Given the description of an element on the screen output the (x, y) to click on. 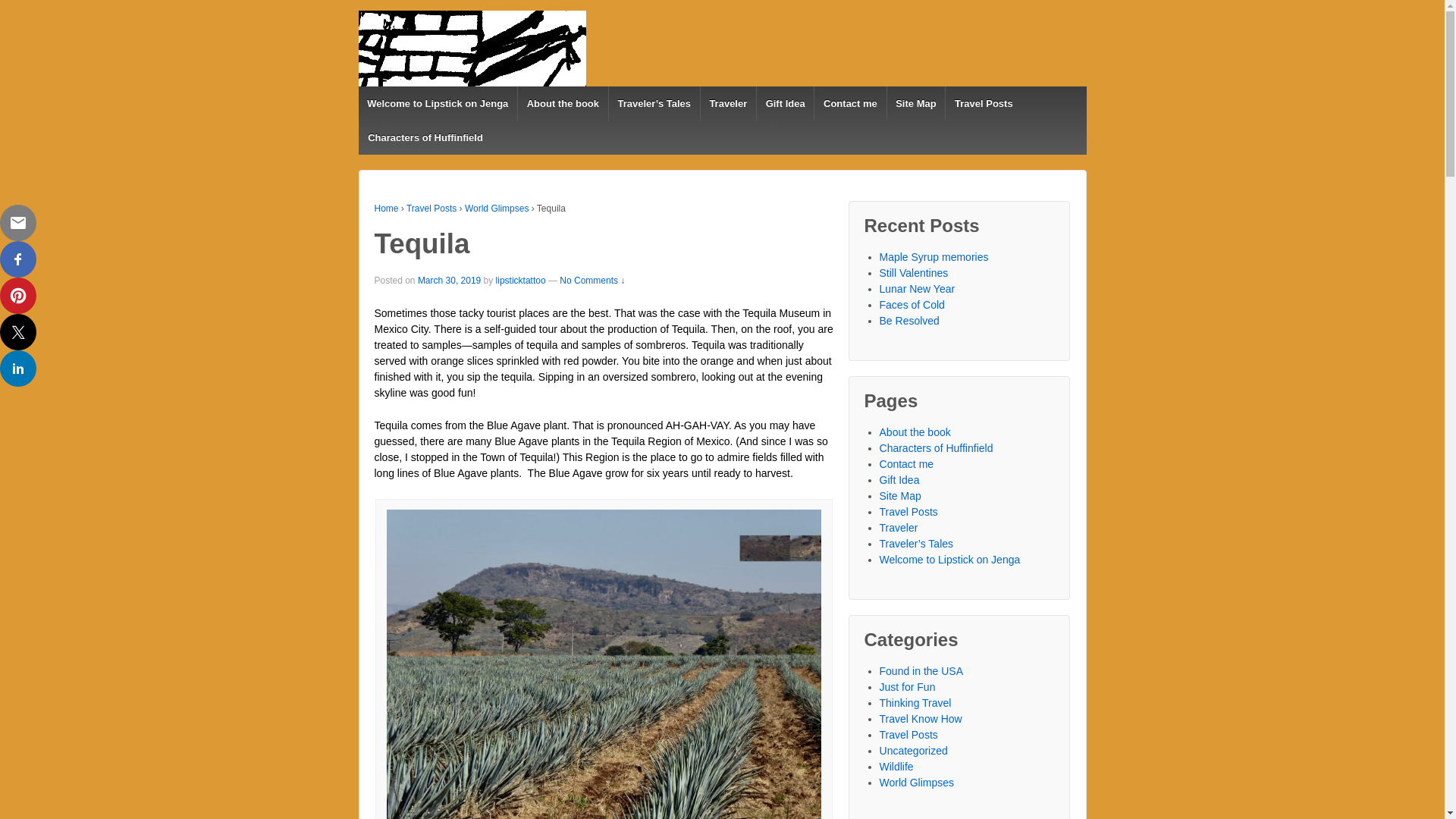
World Glimpses (496, 208)
Contact me (849, 103)
Welcome to Lipstick on Jenga (437, 103)
Characters of Huffinfield (425, 137)
Traveler (727, 103)
Travel Posts (983, 103)
March 30, 2019 (448, 279)
Home (386, 208)
About the book (562, 103)
Travel Posts (431, 208)
Site Map (915, 103)
Tequila (448, 279)
lipsticktattoo (521, 279)
Gift Idea (784, 103)
View all posts by lipsticktattoo (521, 279)
